Given the description of an element on the screen output the (x, y) to click on. 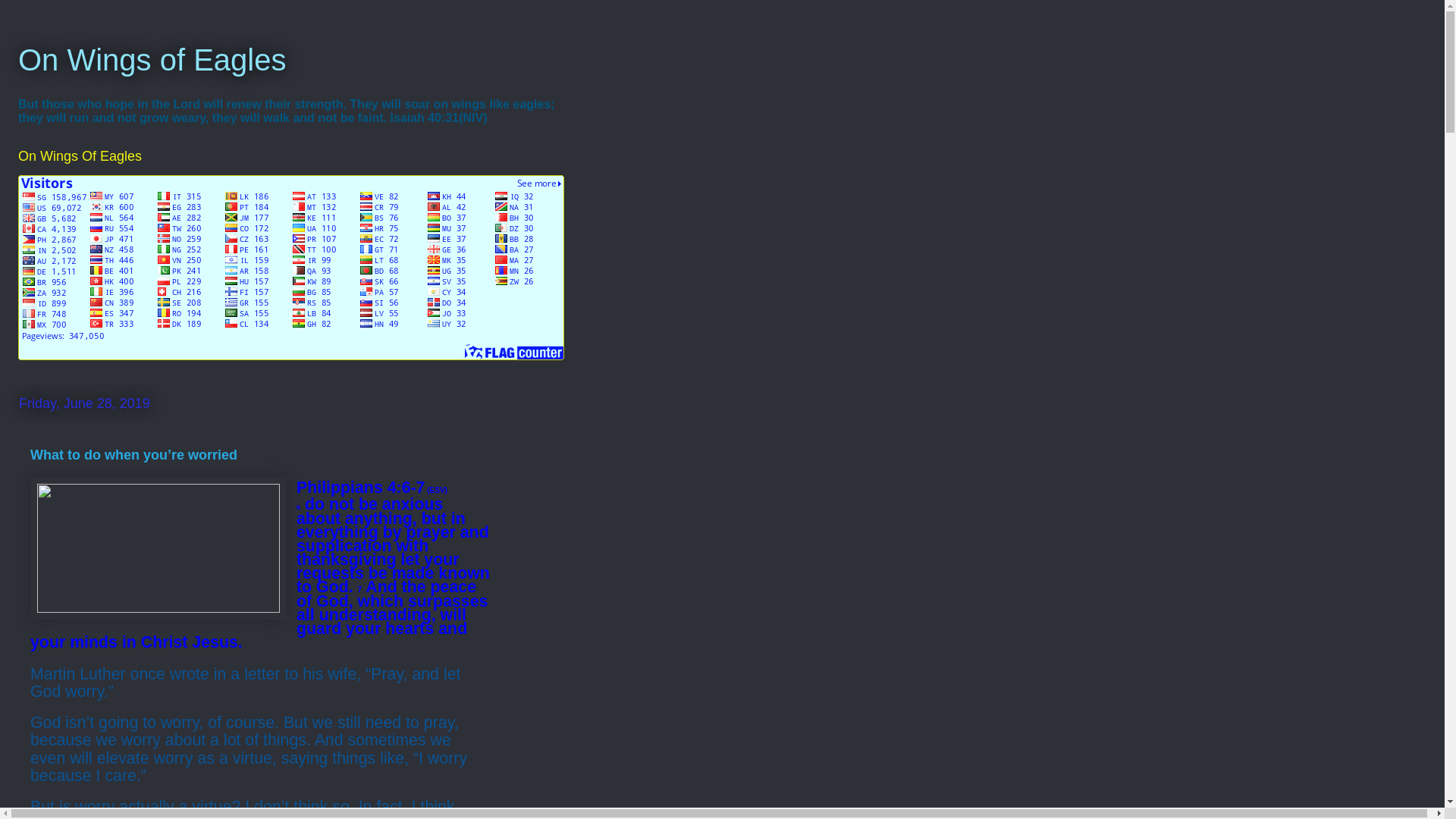
On Wings of Eagles (151, 59)
